Given the description of an element on the screen output the (x, y) to click on. 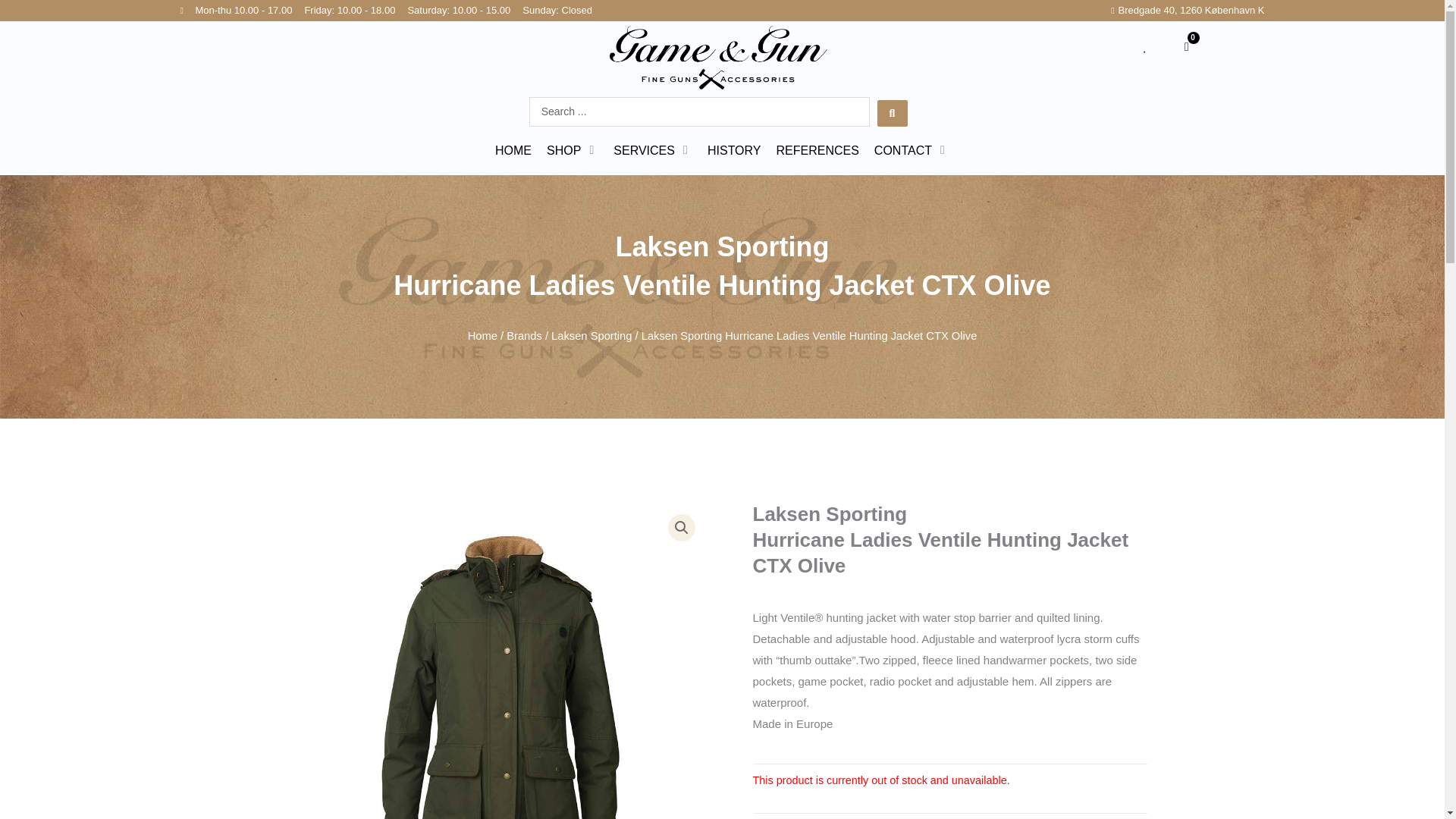
3264-Hurrican-ladies-Tech-Hunting-jacket-CTX-olive.jpg (501, 660)
HOME (1187, 46)
SHOP (513, 150)
